Given the description of an element on the screen output the (x, y) to click on. 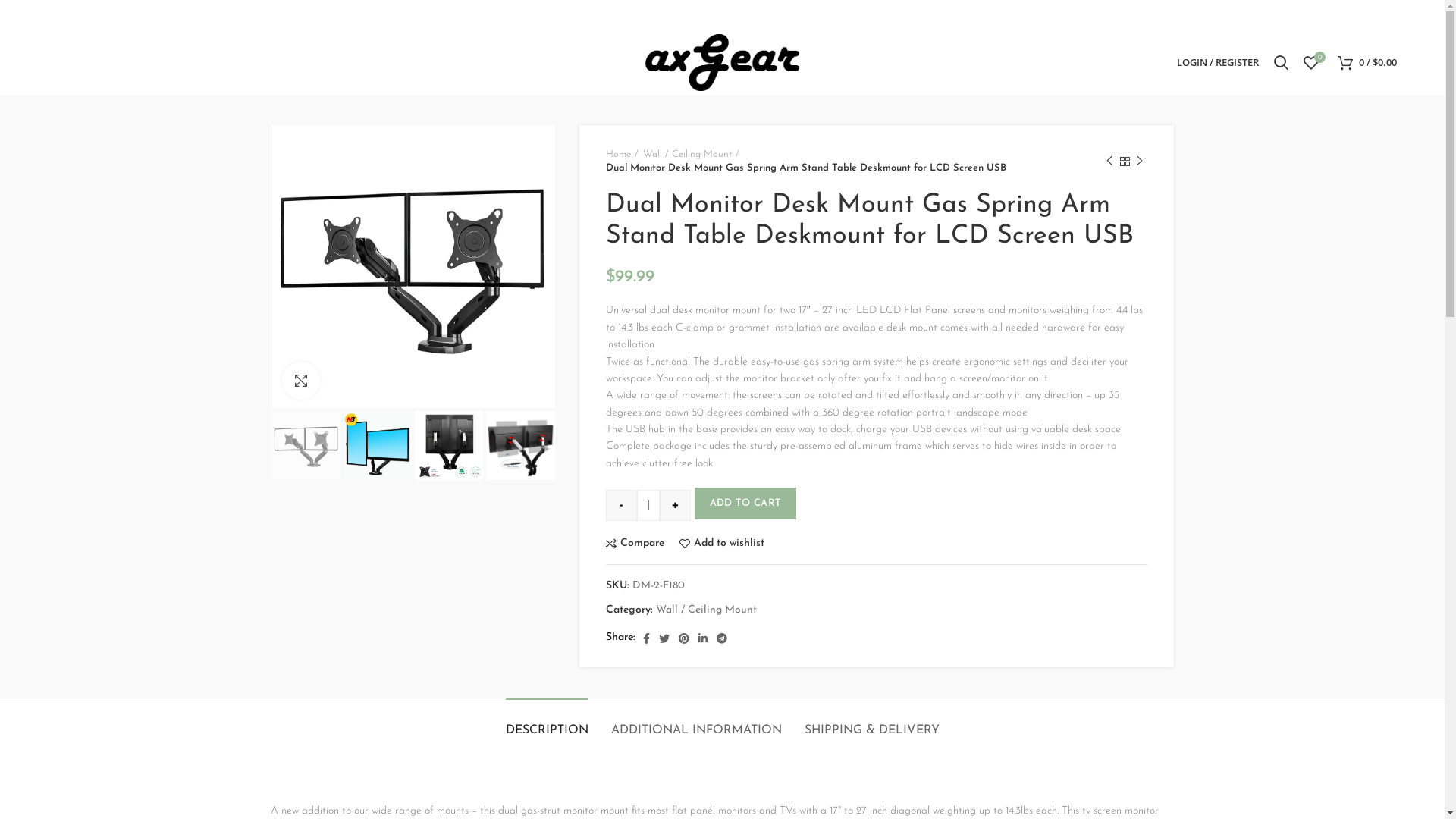
0 Element type: text (1310, 62)
dm-2-f180-2.jpg Element type: hover (377, 445)
ADDITIONAL INFORMATION Element type: text (696, 723)
+ Element type: text (674, 504)
DESCRIPTION Element type: text (546, 723)
- Element type: text (621, 504)
0 / $0.00 Element type: text (1367, 62)
Qty Element type: hover (648, 504)
Next product Element type: text (1139, 161)
Add to wishlist Element type: text (721, 543)
SHIPPING & DELIVERY Element type: text (870, 723)
dm-2-f180-4.jpg Element type: hover (520, 445)
Previous product Element type: text (1109, 161)
Wall / Ceiling Mount Element type: text (705, 610)
Home Element type: text (621, 154)
dm-2-f180-3.jpg Element type: hover (448, 445)
Search Element type: hover (1280, 62)
dm-2-f180-1.jpg Element type: hover (412, 266)
Compare Element type: text (634, 543)
dm-2-f180-1.jpg Element type: hover (305, 445)
LOGIN / REGISTER Element type: text (1217, 62)
Wall / Ceiling Mount Element type: text (691, 154)
ADD TO CART Element type: text (745, 503)
